Given the description of an element on the screen output the (x, y) to click on. 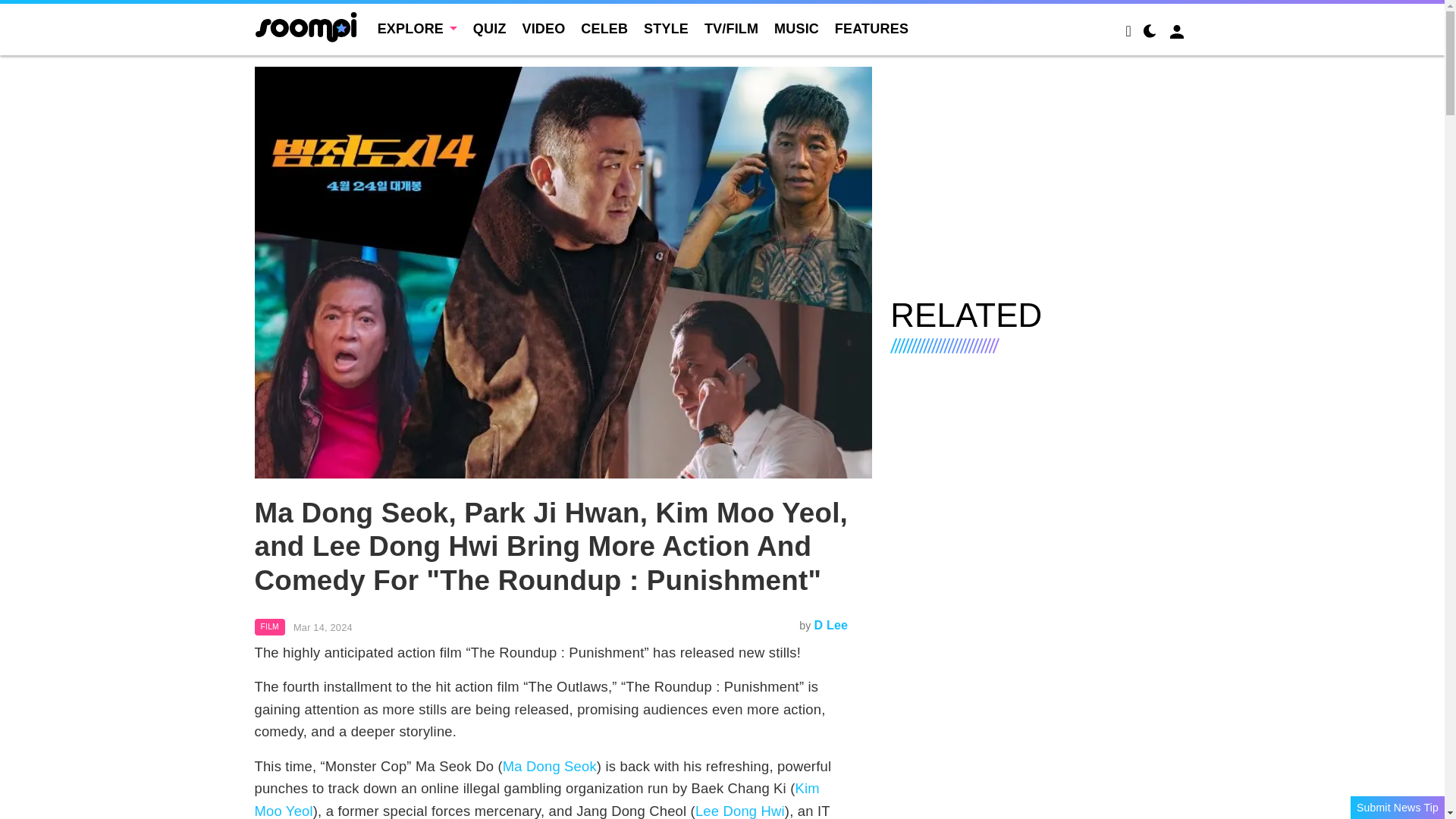
FILM (269, 627)
VIDEO (542, 28)
QUIZ (489, 28)
Ma Dong Seok (549, 765)
Lee Dong Hwi (739, 811)
Film (269, 627)
Articles by D Lee (830, 625)
FEATURES (871, 28)
EXPLORE (417, 28)
MUSIC (796, 28)
Kim Moo Yeol (536, 799)
D Lee (830, 625)
Night Mode Toggle (1149, 33)
STYLE (665, 28)
CELEB (603, 28)
